Given the description of an element on the screen output the (x, y) to click on. 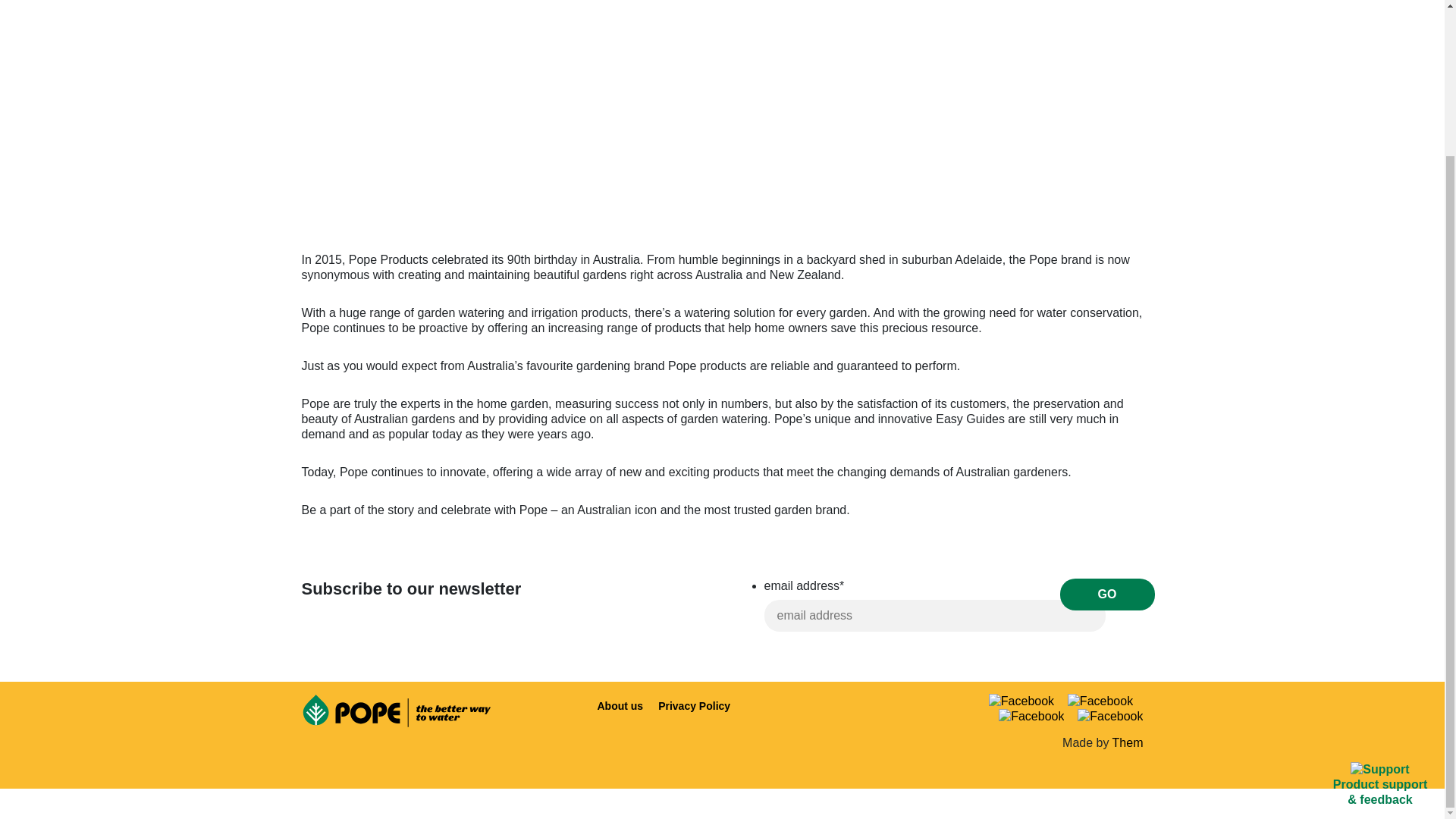
About us (619, 705)
Privacy Policy (694, 705)
Go (1106, 594)
Them (1127, 742)
Go (1106, 594)
YouTube video player (721, 113)
